Given the description of an element on the screen output the (x, y) to click on. 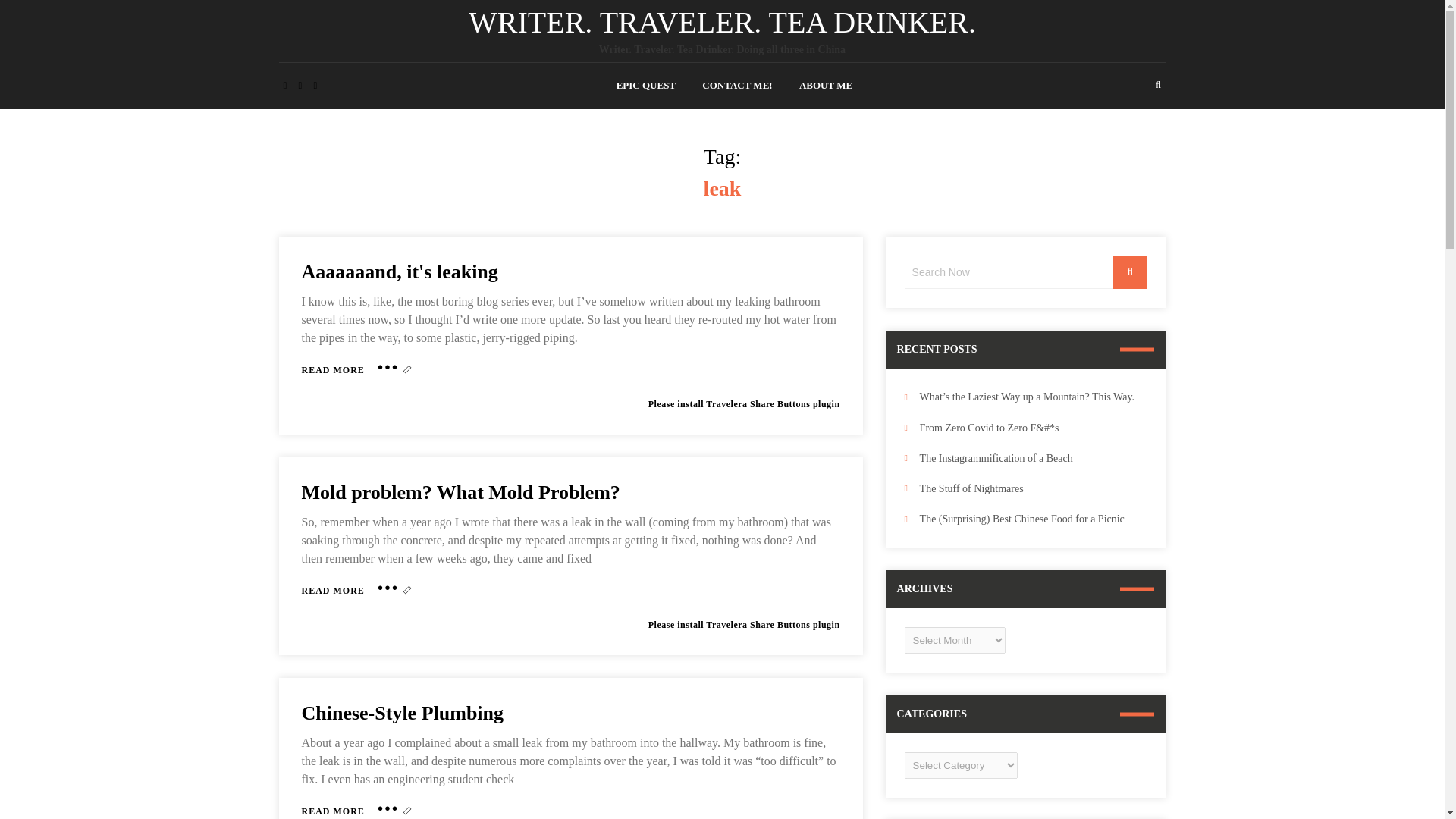
Mold problem? What Mold Problem? (333, 590)
Chinese-Style Plumbing (402, 712)
CONTACT ME! (736, 85)
Aaaaaaand, it's leaking (333, 369)
Mold problem? What Mold Problem? (460, 492)
ABOUT ME (333, 369)
Chinese-Style Plumbing (825, 85)
Aaaaaaand, it's leaking (333, 811)
Search (402, 712)
WRITER. TRAVELER. TEA DRINKER. (399, 271)
The Instagrammification of a Beach (1130, 272)
EPIC QUEST (721, 21)
